Given the description of an element on the screen output the (x, y) to click on. 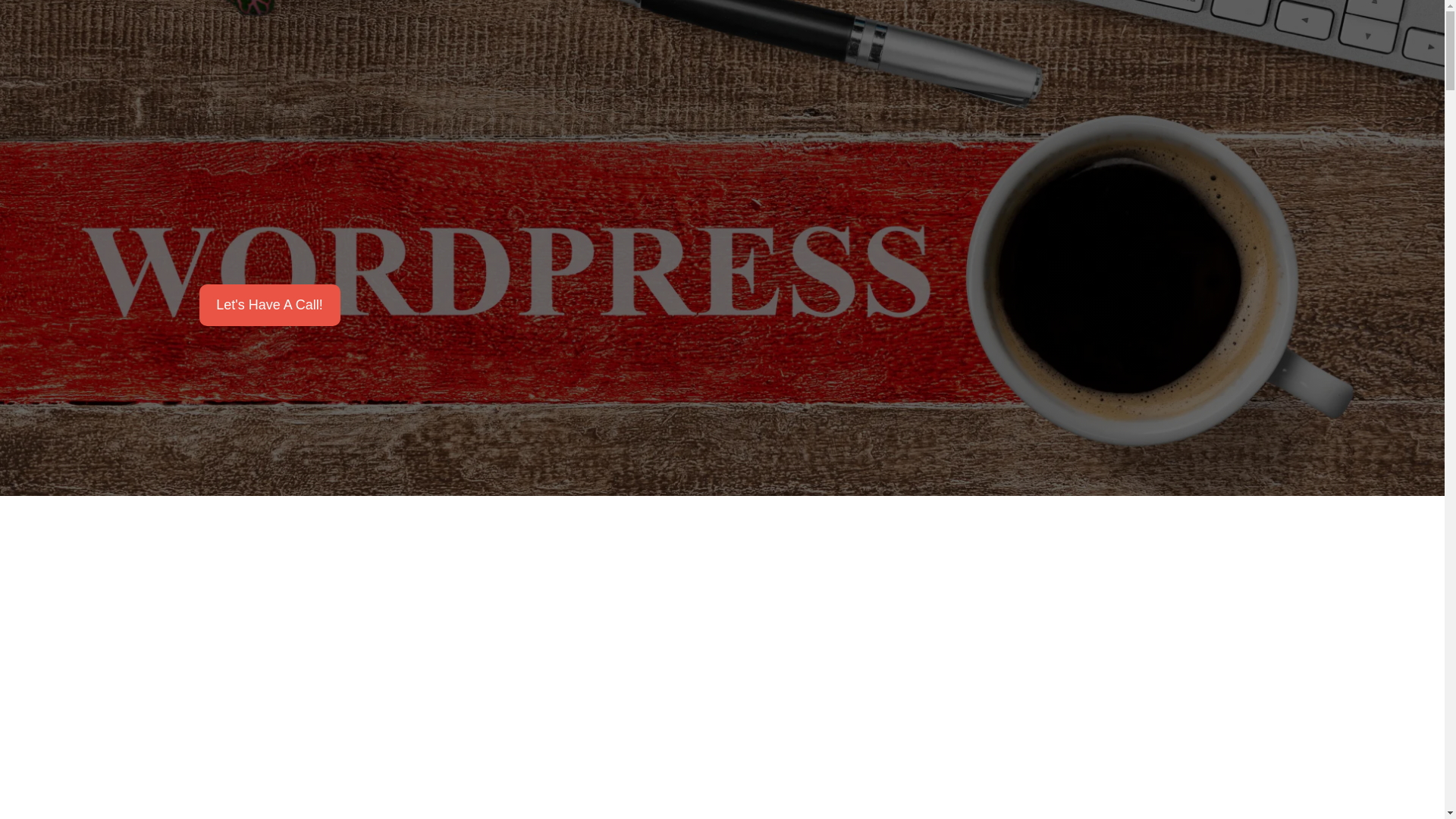
Let's Have A Call! (268, 304)
